Given the description of an element on the screen output the (x, y) to click on. 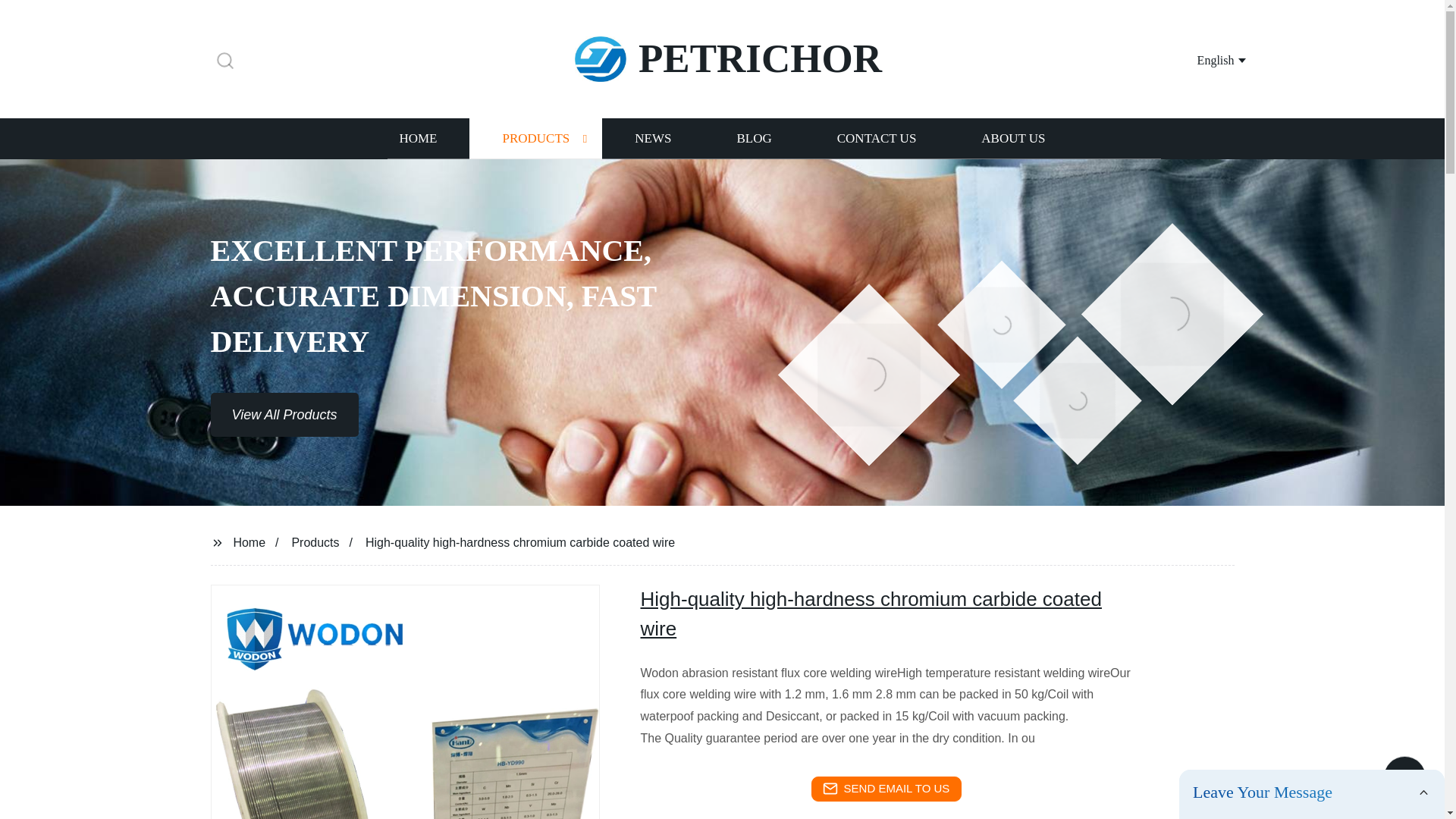
Products (315, 541)
SEND EMAIL TO US (885, 788)
PRODUCTS (535, 137)
English (1203, 59)
Home (248, 541)
Top (1404, 779)
NEWS (652, 137)
ABOUT US (1013, 137)
BLOG (753, 137)
HOME (417, 137)
CONTACT US (877, 137)
English (1203, 59)
